Given the description of an element on the screen output the (x, y) to click on. 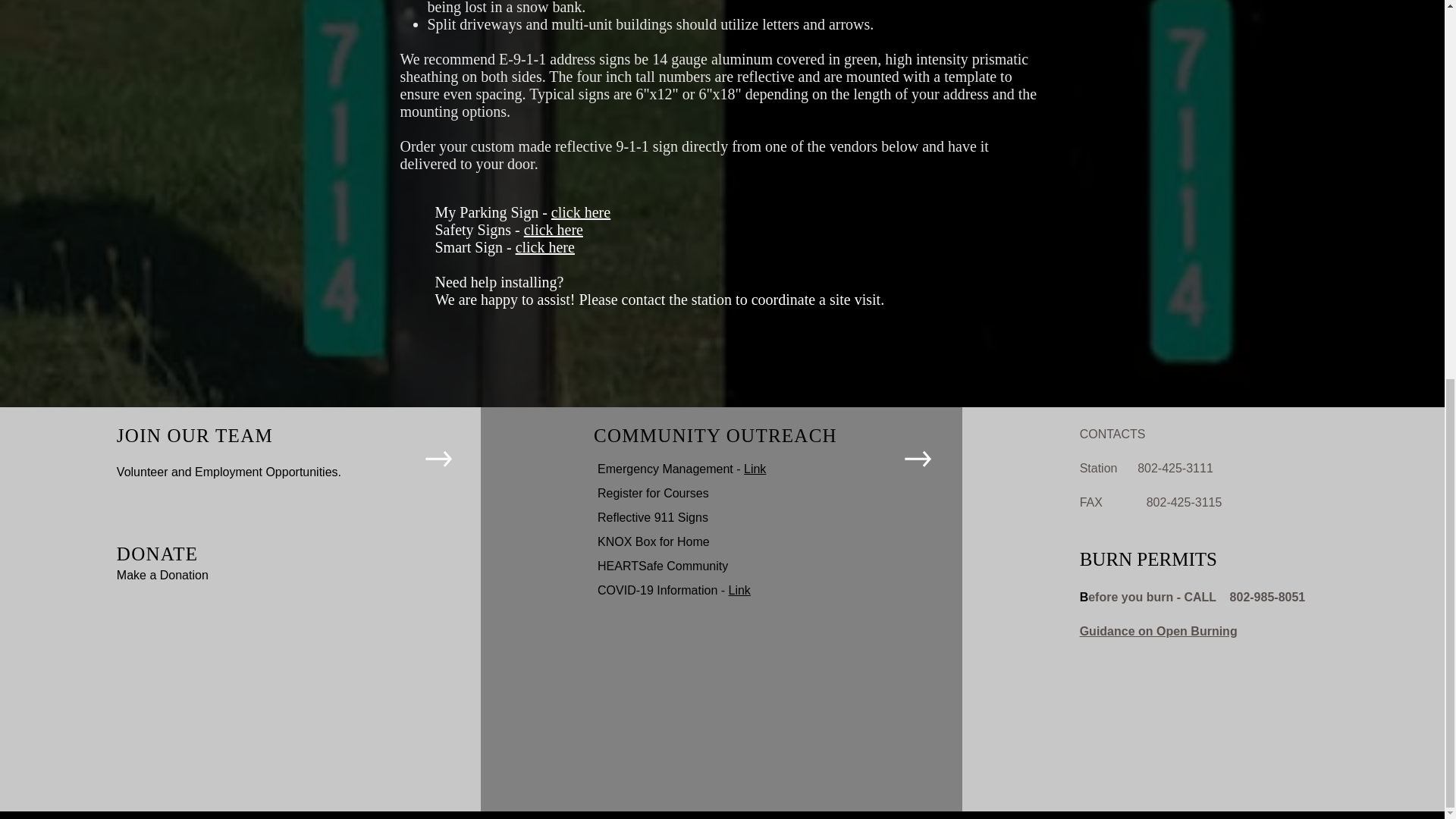
Volunteer and Employment Opportunities. (228, 472)
HEARTSafe Community (662, 565)
Link (754, 468)
click here (580, 211)
Link (740, 590)
CONTACTS (1112, 433)
KNOX Box for Home (653, 541)
Register for Courses (652, 492)
DONATE (157, 553)
Reflective 911 Signs (651, 517)
click here (545, 247)
Guidance on Open Burning (1158, 631)
Make a Donation (162, 574)
JOIN OUR TEAM (194, 435)
click here (553, 229)
